Given the description of an element on the screen output the (x, y) to click on. 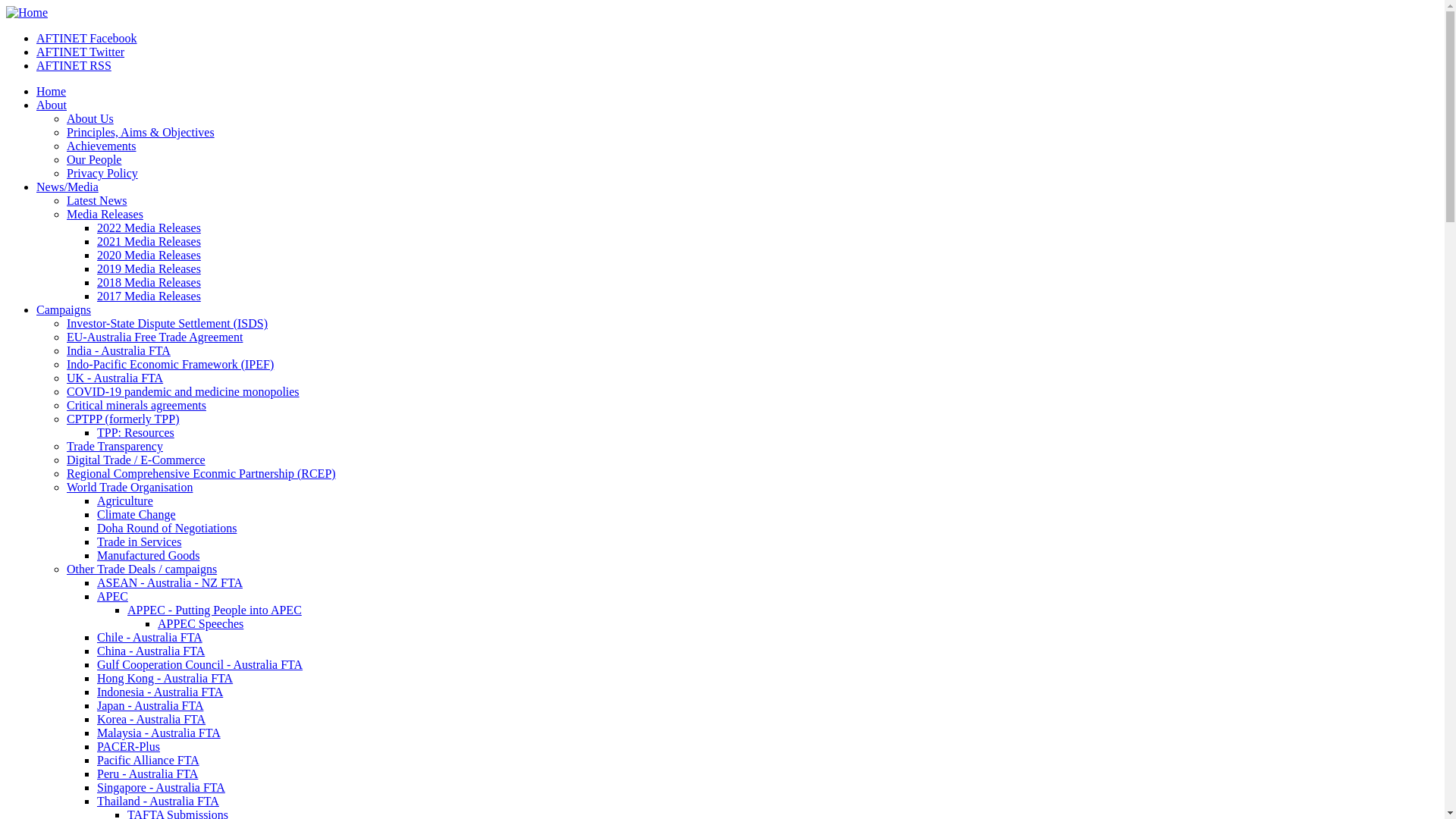
2017 Media Releases Element type: text (148, 295)
Gulf Cooperation Council - Australia FTA Element type: text (199, 664)
COVID-19 pandemic and medicine monopolies Element type: text (182, 391)
Malaysia - Australia FTA Element type: text (158, 732)
Campaigns Element type: text (63, 309)
PACER-Plus Element type: text (128, 746)
AFTINET Twitter Element type: text (80, 51)
Climate Change Element type: text (136, 514)
Regional Comprehensive Econmic Partnership (RCEP) Element type: text (200, 473)
Latest News Element type: text (96, 200)
APPEC - Putting People into APEC Element type: text (214, 609)
ASEAN - Australia - NZ FTA Element type: text (169, 582)
Peru - Australia FTA Element type: text (147, 773)
Hong Kong - Australia FTA Element type: text (164, 677)
About Us Element type: text (89, 118)
Our People Element type: text (93, 159)
TPP: Resources Element type: text (135, 432)
AFTINET RSS Element type: text (73, 65)
AFTINET Facebook Element type: text (86, 37)
2021 Media Releases Element type: text (148, 241)
Other Trade Deals / campaigns Element type: text (141, 568)
Indonesia - Australia FTA Element type: text (159, 691)
Investor-State Dispute Settlement (ISDS) Element type: text (166, 322)
World Trade Organisation Element type: text (129, 486)
Media Releases Element type: text (104, 213)
News/Media Element type: text (67, 186)
2020 Media Releases Element type: text (148, 254)
Critical minerals agreements Element type: text (136, 404)
APEC Element type: text (112, 595)
India - Australia FTA Element type: text (118, 350)
2019 Media Releases Element type: text (148, 268)
Achievements Element type: text (101, 145)
2018 Media Releases Element type: text (148, 282)
Digital Trade / E-Commerce Element type: text (135, 459)
China - Australia FTA Element type: text (150, 650)
Doha Round of Negotiations Element type: text (166, 527)
Indo-Pacific Economic Framework (IPEF) Element type: text (169, 363)
Japan - Australia FTA Element type: text (150, 705)
Agriculture Element type: text (125, 500)
Principles, Aims & Objectives Element type: text (140, 131)
Home Element type: text (50, 90)
Korea - Australia FTA Element type: text (151, 718)
CPTPP (formerly TPP) Element type: text (122, 418)
APPEC Speeches Element type: text (200, 623)
Home Element type: hover (26, 12)
Trade Transparency Element type: text (114, 445)
Trade in Services Element type: text (139, 541)
Singapore - Australia FTA Element type: text (161, 787)
Manufactured Goods Element type: text (148, 555)
Privacy Policy Element type: text (102, 172)
Chile - Australia FTA Element type: text (149, 636)
2022 Media Releases Element type: text (148, 227)
EU-Australia Free Trade Agreement Element type: text (154, 336)
Thailand - Australia FTA Element type: text (158, 800)
UK - Australia FTA Element type: text (114, 377)
About Element type: text (51, 104)
Pacific Alliance FTA Element type: text (148, 759)
